Given the description of an element on the screen output the (x, y) to click on. 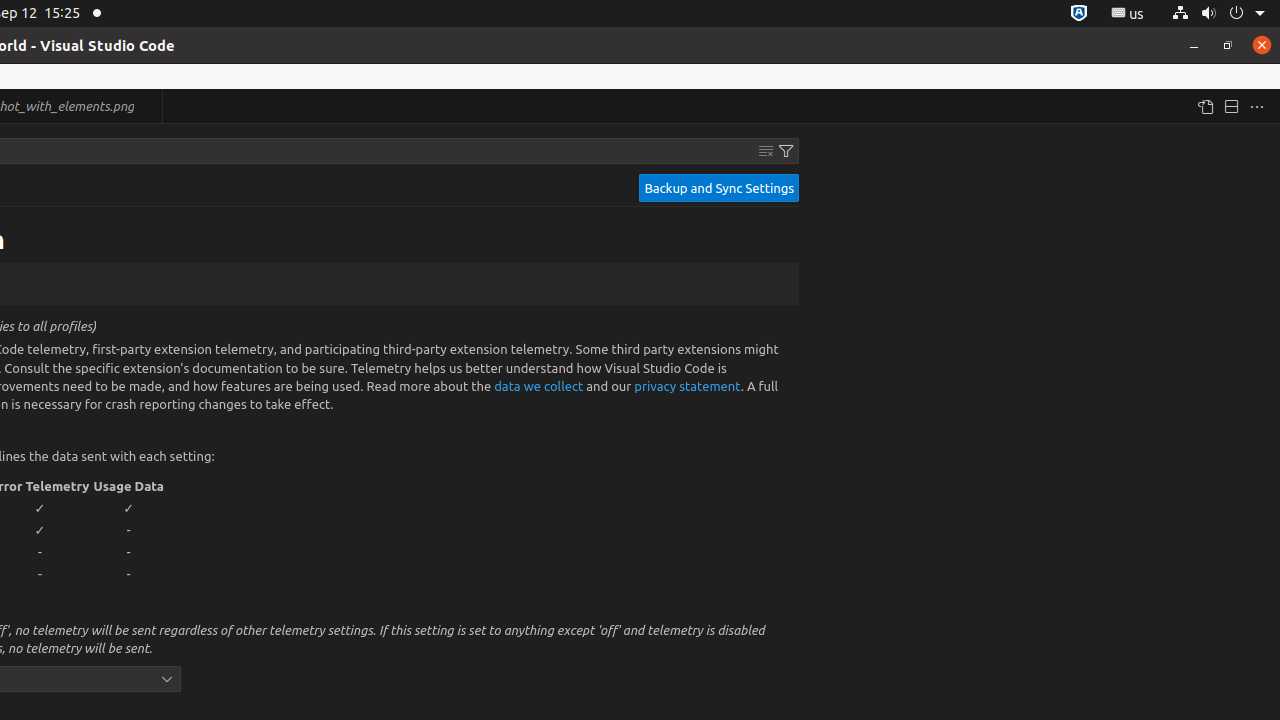
Split Editor Down Element type: push-button (1231, 106)
Clear Settings Search Input Element type: push-button (766, 151)
Open Settings (JSON) Element type: push-button (1205, 106)
data we collect Element type: link (539, 385)
